Given the description of an element on the screen output the (x, y) to click on. 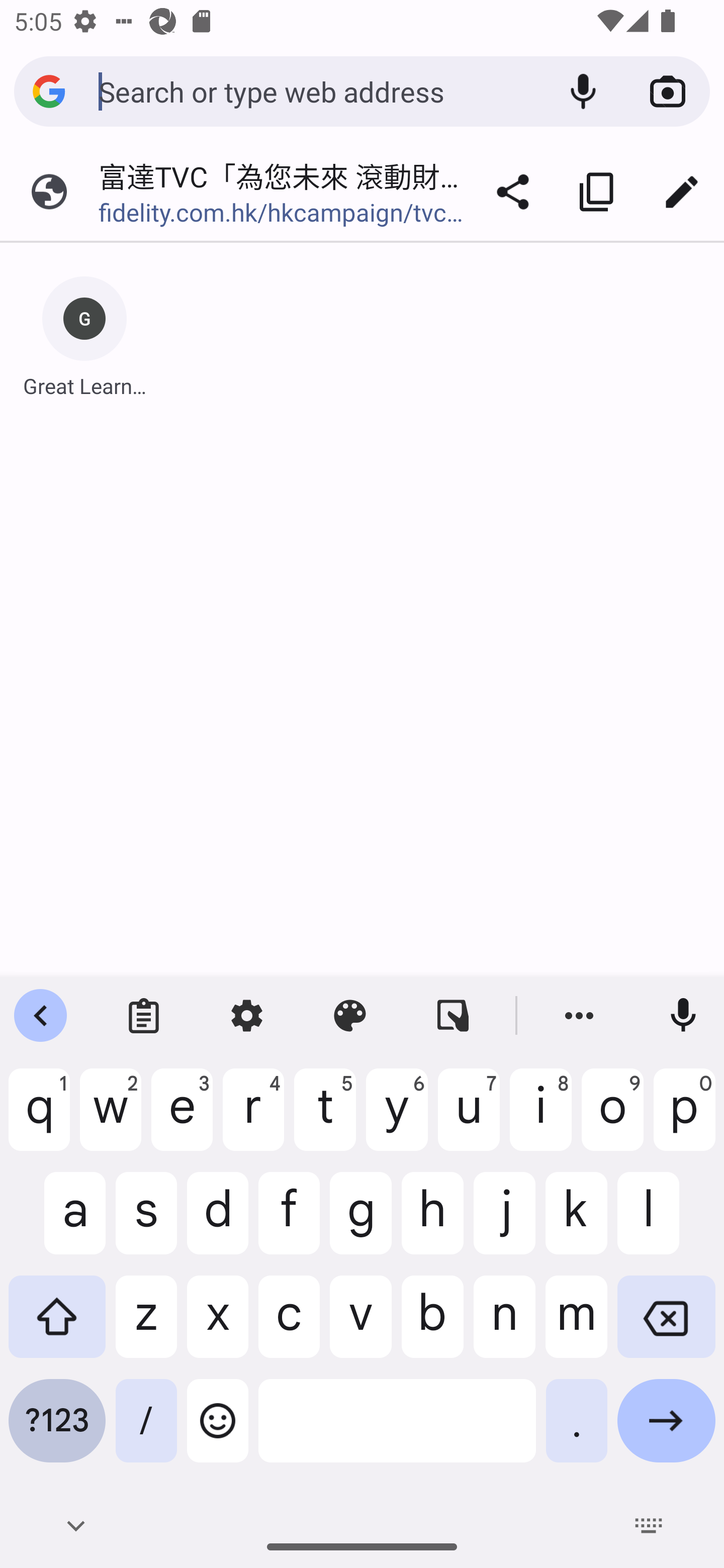
Start voice search (582, 91)
Search with your camera using Google Lens (667, 91)
Search or type web address (319, 90)
Share… (512, 192)
Copy link (597, 192)
Edit (681, 192)
